Given the description of an element on the screen output the (x, y) to click on. 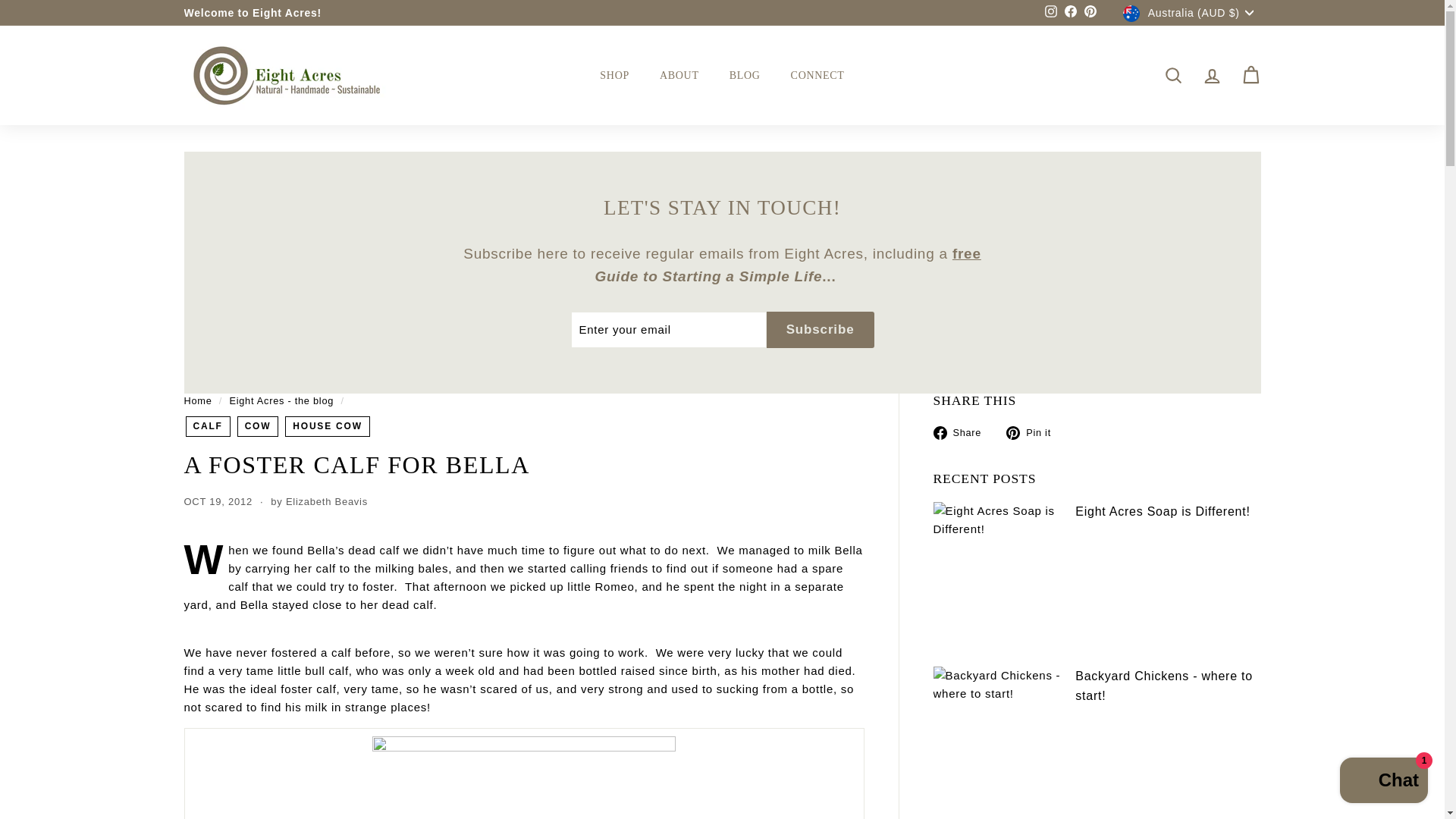
Back to the frontpage (197, 400)
eight acres: a foster calf for a house cow (523, 777)
SHOP (615, 75)
Share on Facebook (962, 432)
Pin on Pinterest (1034, 432)
